Given the description of an element on the screen output the (x, y) to click on. 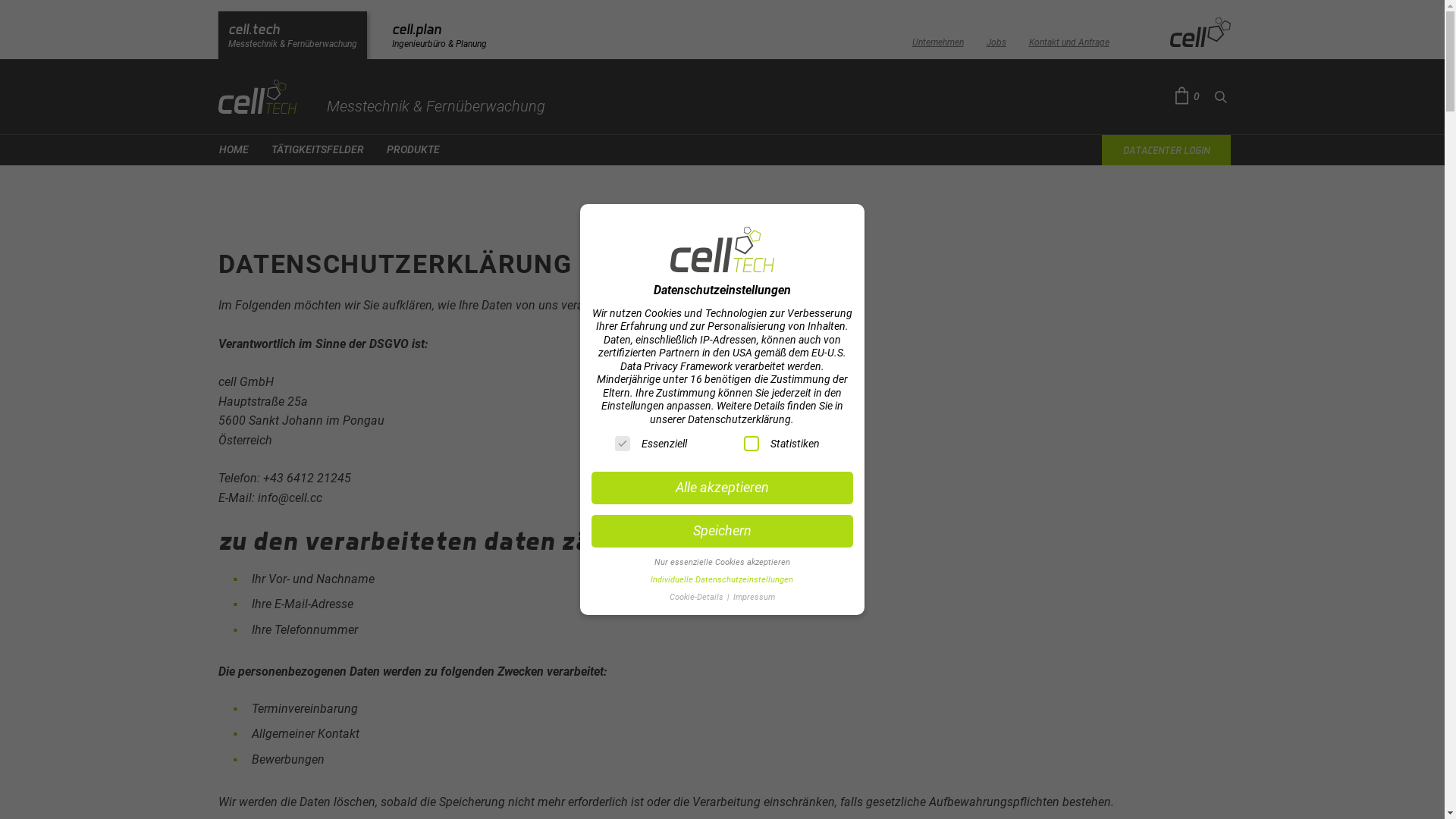
Nur essenzielle Cookies akzeptieren Element type: text (722, 562)
cell.tech | wir denken wasser weiter. Element type: hover (381, 96)
Cookie-Details Element type: text (697, 597)
cell.tech Element type: text (292, 35)
Impressum Element type: text (754, 597)
Individuelle Datenschutzeinstellungen Element type: text (721, 579)
Jobs Element type: text (995, 38)
HOME Element type: text (232, 149)
DATACENTER LOGIN Element type: text (1165, 149)
cell.plan Element type: text (439, 35)
Speichern Element type: text (722, 531)
PRODUKTE Element type: text (412, 149)
Unternehmen Element type: text (937, 38)
Alle akzeptieren Element type: text (722, 488)
Kontakt und Anfrage Element type: text (1068, 38)
